Given the description of an element on the screen output the (x, y) to click on. 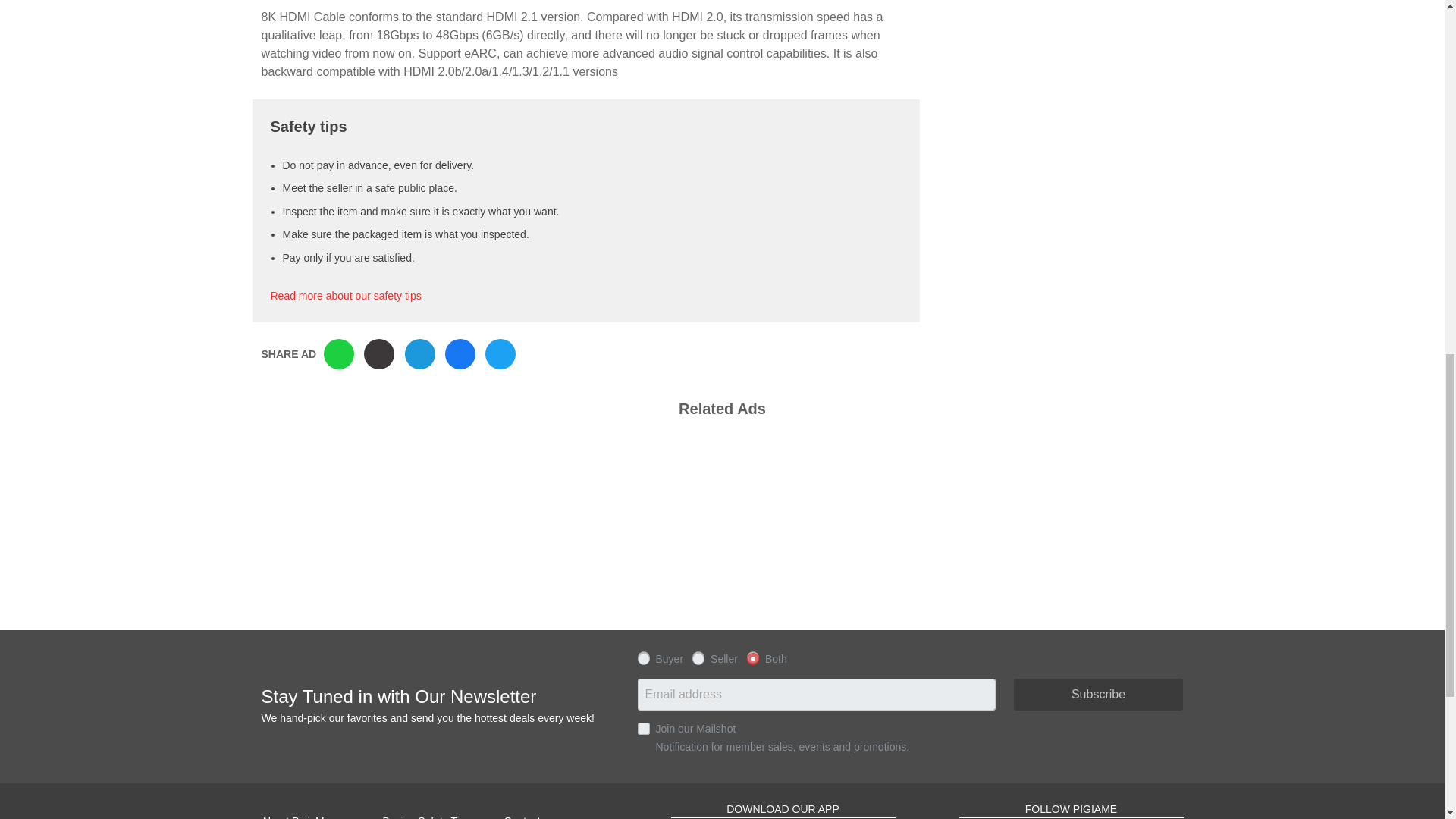
Copy link (379, 354)
Share via Facebook (460, 354)
Read more about our safety tips (344, 295)
Share via Twitter (499, 354)
Share via Email (419, 354)
Share via WhatsApp (338, 354)
